Given the description of an element on the screen output the (x, y) to click on. 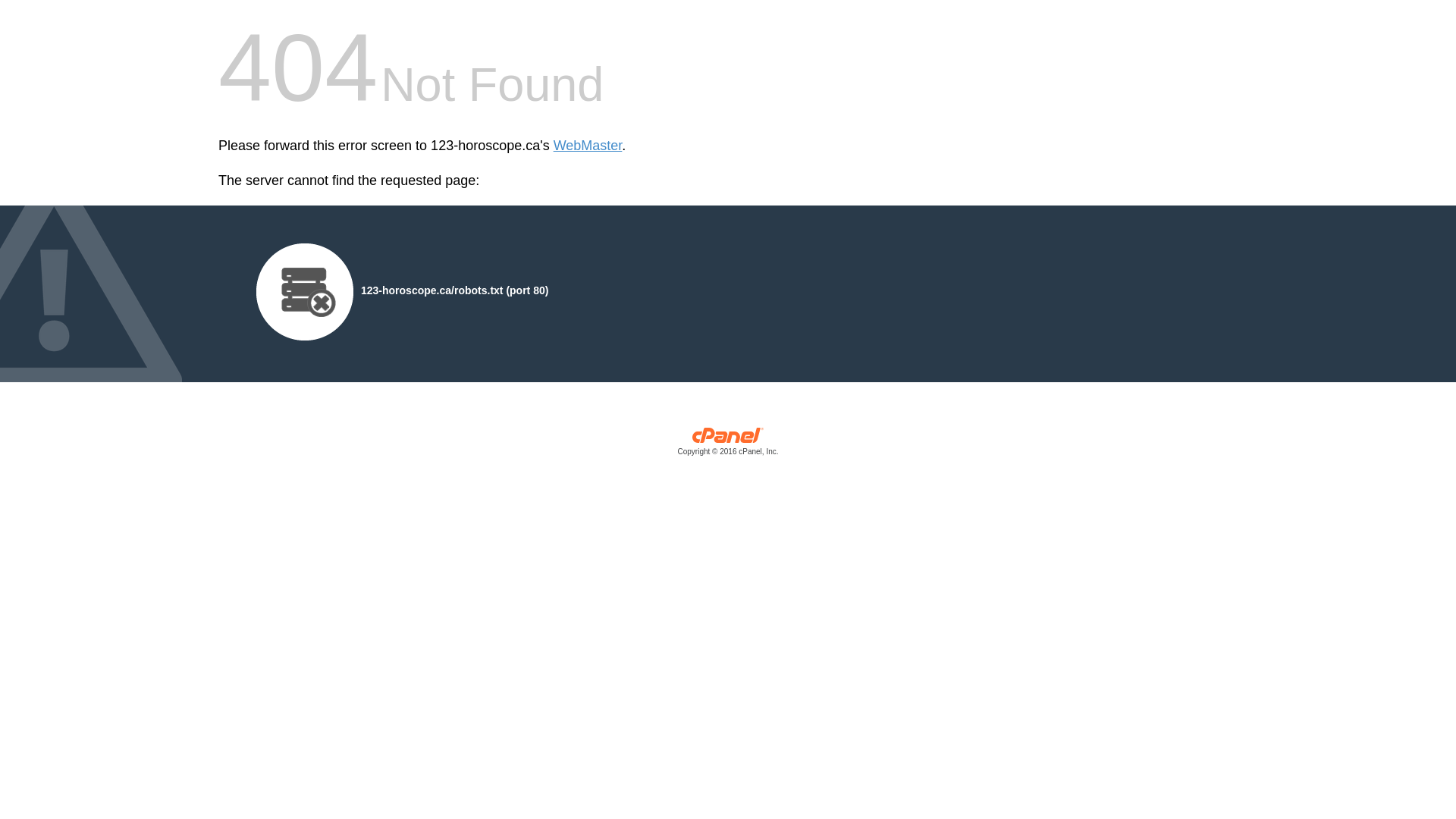
WebMaster Element type: text (587, 145)
